Given the description of an element on the screen output the (x, y) to click on. 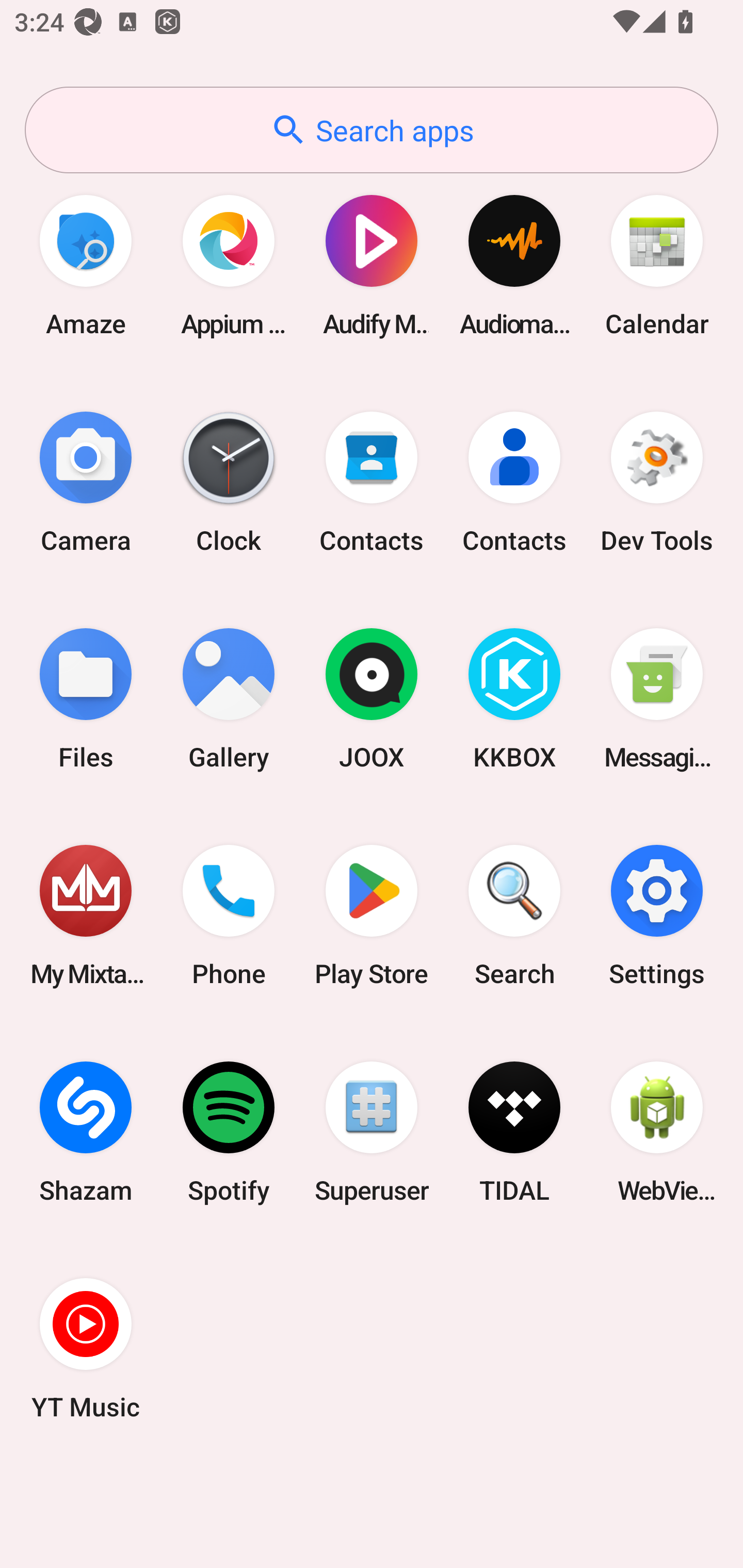
  Search apps (371, 130)
Amaze (85, 264)
Appium Settings (228, 264)
Audify Music Player (371, 264)
Audio­mack (514, 264)
Calendar (656, 264)
Camera (85, 482)
Clock (228, 482)
Contacts (371, 482)
Contacts (514, 482)
Dev Tools (656, 482)
Files (85, 699)
Gallery (228, 699)
JOOX (371, 699)
KKBOX (514, 699)
Messaging (656, 699)
My Mixtapez (85, 915)
Phone (228, 915)
Play Store (371, 915)
Search (514, 915)
Settings (656, 915)
Shazam (85, 1131)
Spotify (228, 1131)
Superuser (371, 1131)
TIDAL (514, 1131)
WebView Browser Tester (656, 1131)
YT Music (85, 1348)
